Given the description of an element on the screen output the (x, y) to click on. 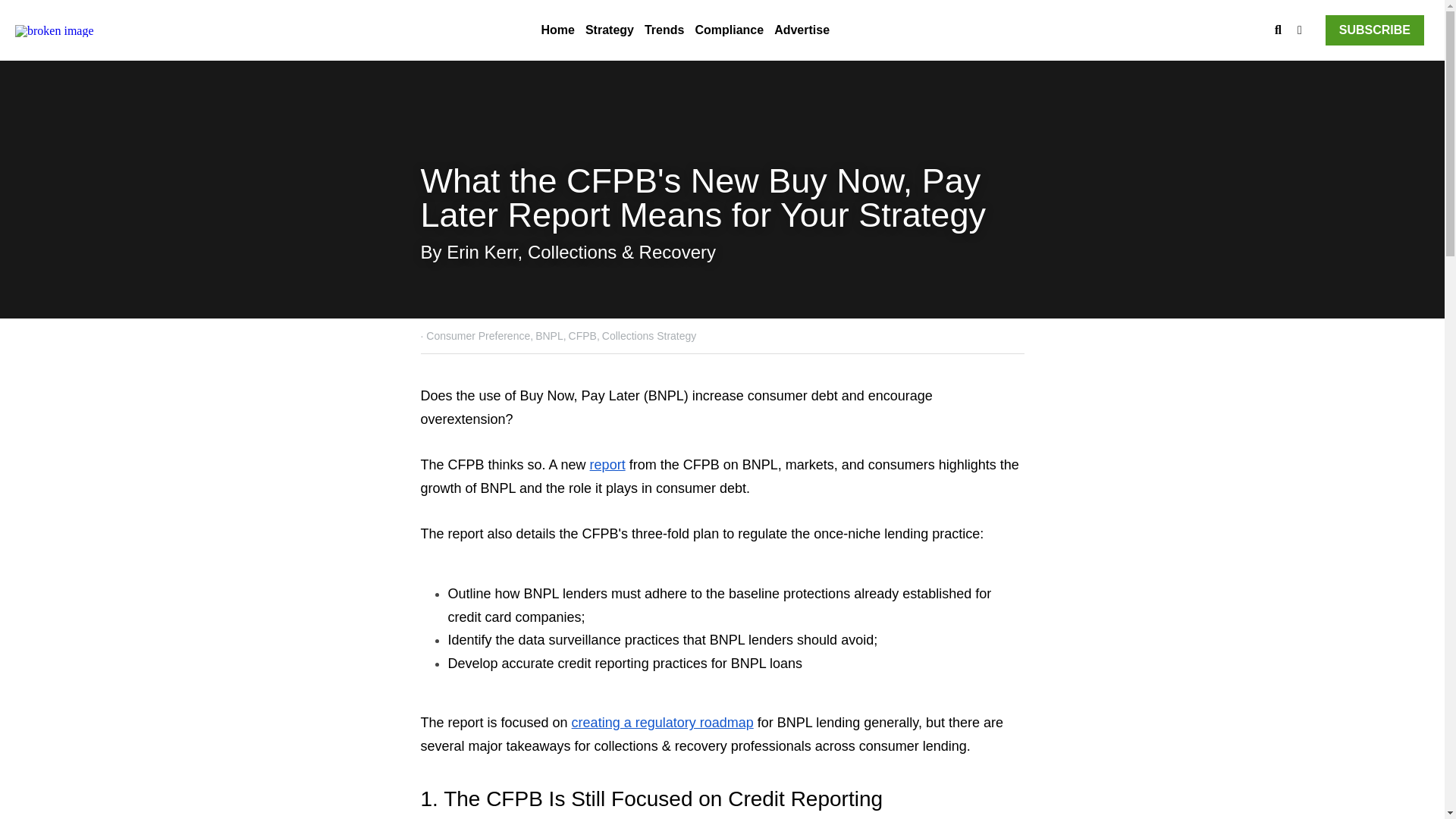
Compliance (728, 29)
report (607, 464)
Strategy (609, 29)
SUBSCRIBE (1373, 30)
Advertise (801, 29)
Trends (664, 29)
creating a regulatory roadmap (663, 722)
Home (556, 29)
